Given the description of an element on the screen output the (x, y) to click on. 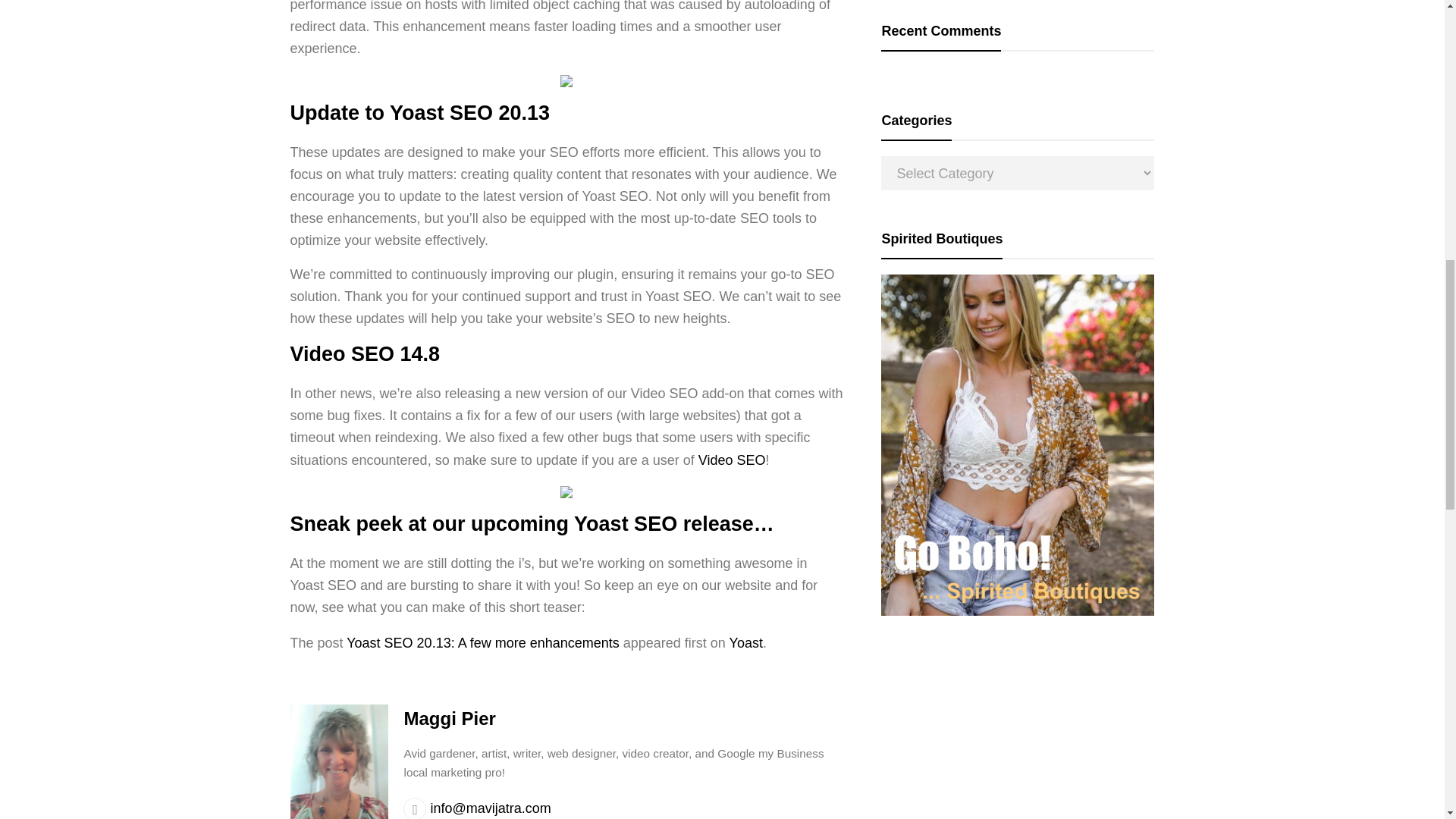
Yoast SEO 20.13: A few more enhancements (483, 642)
Video SEO (731, 459)
Yoast (745, 642)
Maggi Pier (449, 718)
Spirited Boutiques (1017, 611)
